Given the description of an element on the screen output the (x, y) to click on. 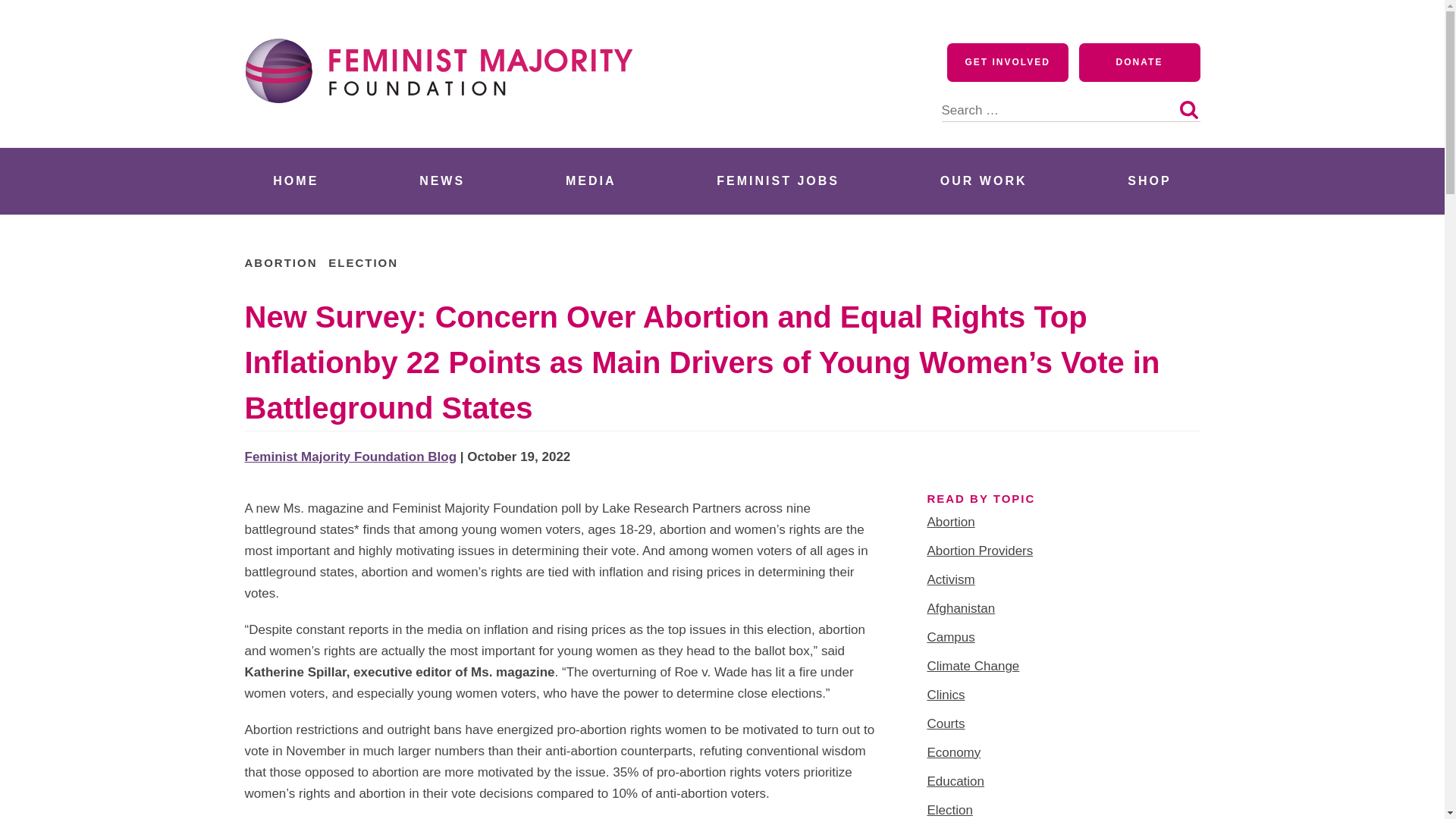
ABORTION (280, 262)
Climate Change (972, 666)
Activism (950, 579)
Feminist Majority Foundation (445, 130)
Search for: (1070, 101)
DONATE (1138, 62)
Search (1187, 109)
GET INVOLVED (1007, 62)
HOME (295, 181)
Search (1187, 109)
NEWS (441, 181)
MEDIA (591, 181)
Search (1187, 109)
OUR WORK (983, 181)
Afghanistan (960, 608)
